Given the description of an element on the screen output the (x, y) to click on. 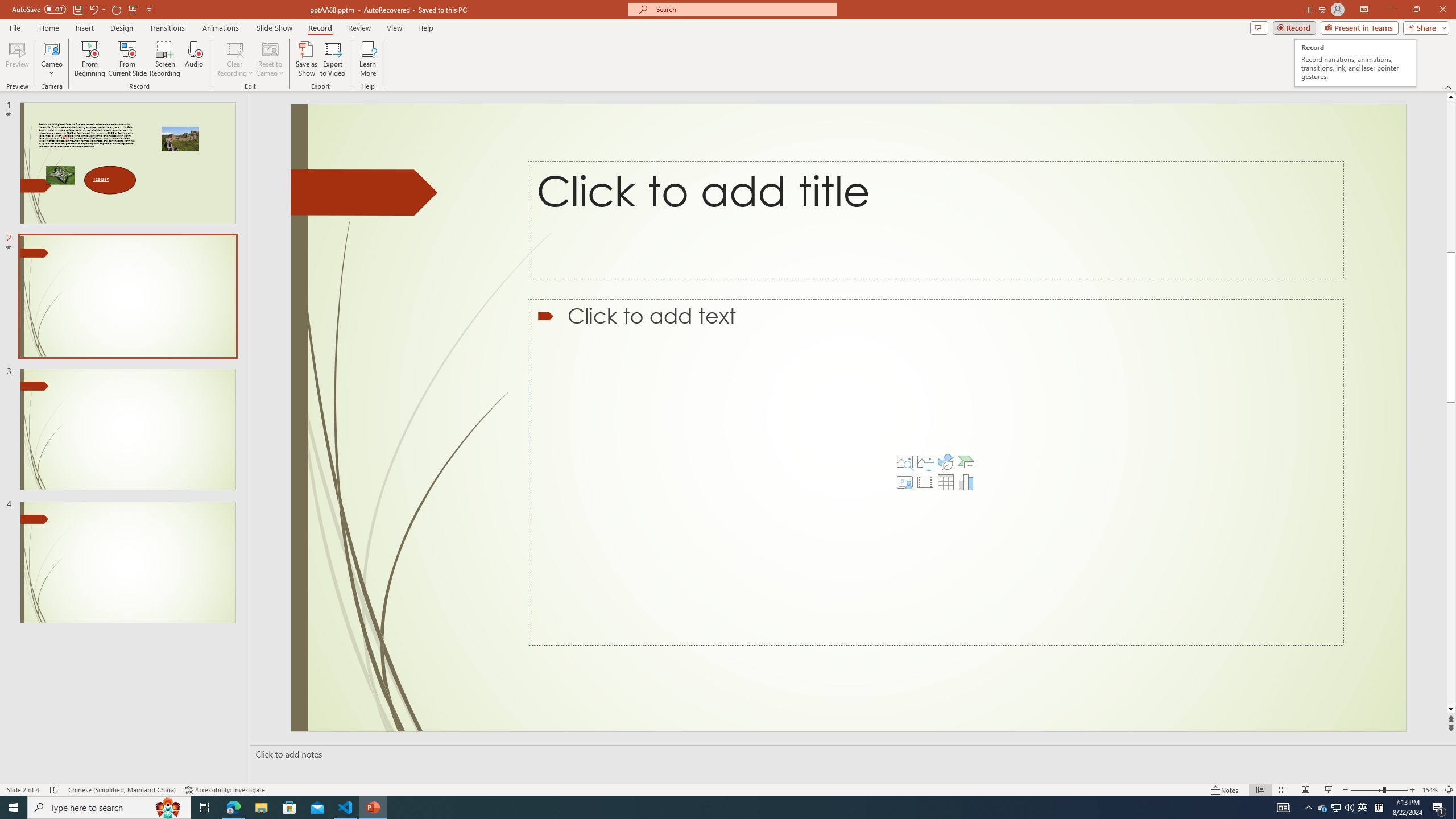
Insert Video (924, 482)
Content Placeholder (934, 471)
